Given the description of an element on the screen output the (x, y) to click on. 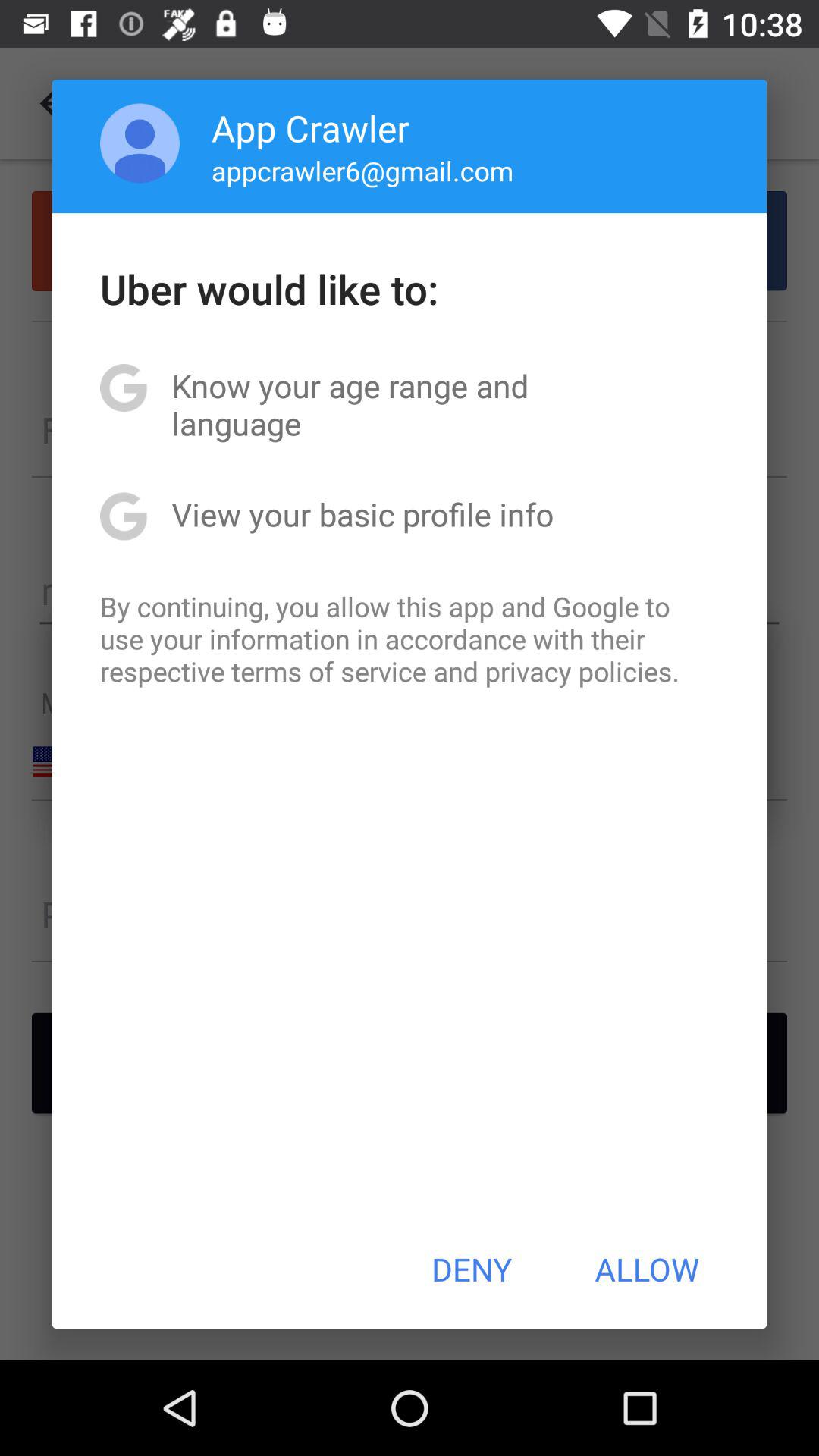
scroll to the know your age icon (409, 404)
